Given the description of an element on the screen output the (x, y) to click on. 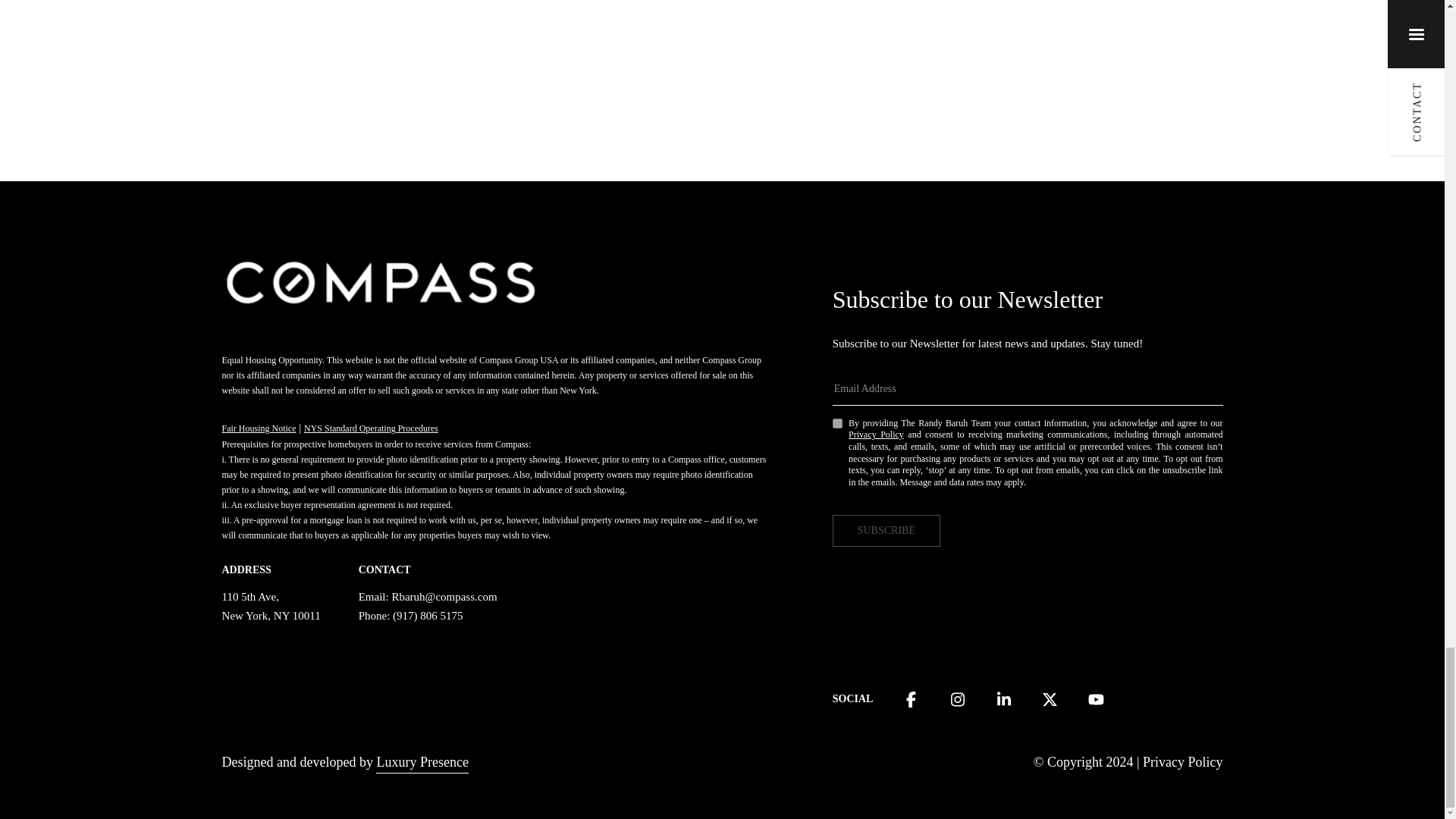
on (837, 423)
Subscribe (886, 531)
